Given the description of an element on the screen output the (x, y) to click on. 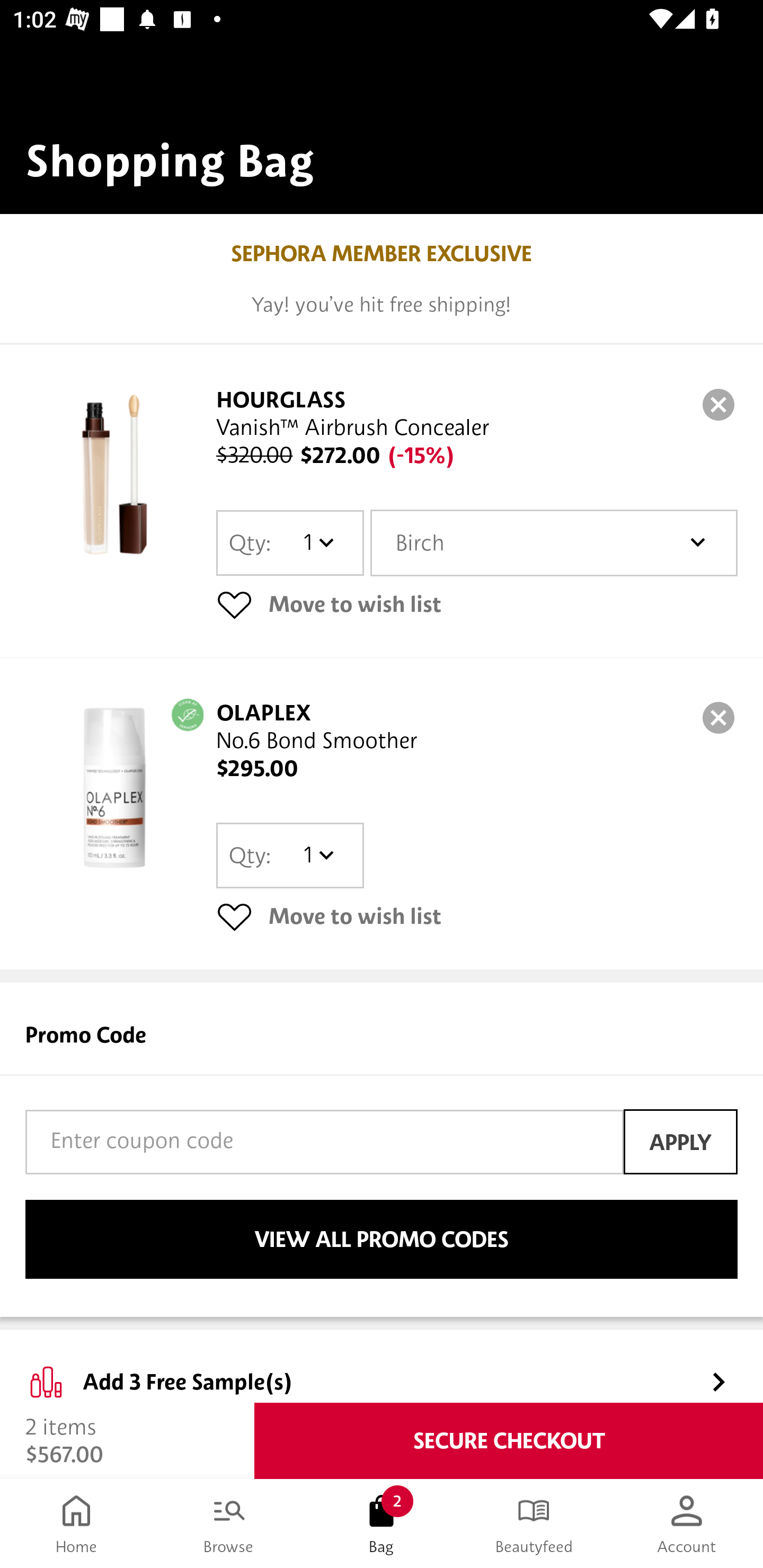
Birch (553, 542)
1 (317, 542)
Move to wish list (476, 604)
1 (317, 855)
Move to wish list (476, 916)
APPLY (680, 1141)
Enter coupon code (324, 1142)
VIEW ALL PROMO CODES (381, 1239)
Add 3 Free Sample(s) (381, 1366)
SECURE CHECKOUT (508, 1440)
Home (76, 1523)
Browse (228, 1523)
Beautyfeed (533, 1523)
Account (686, 1523)
